Given the description of an element on the screen output the (x, y) to click on. 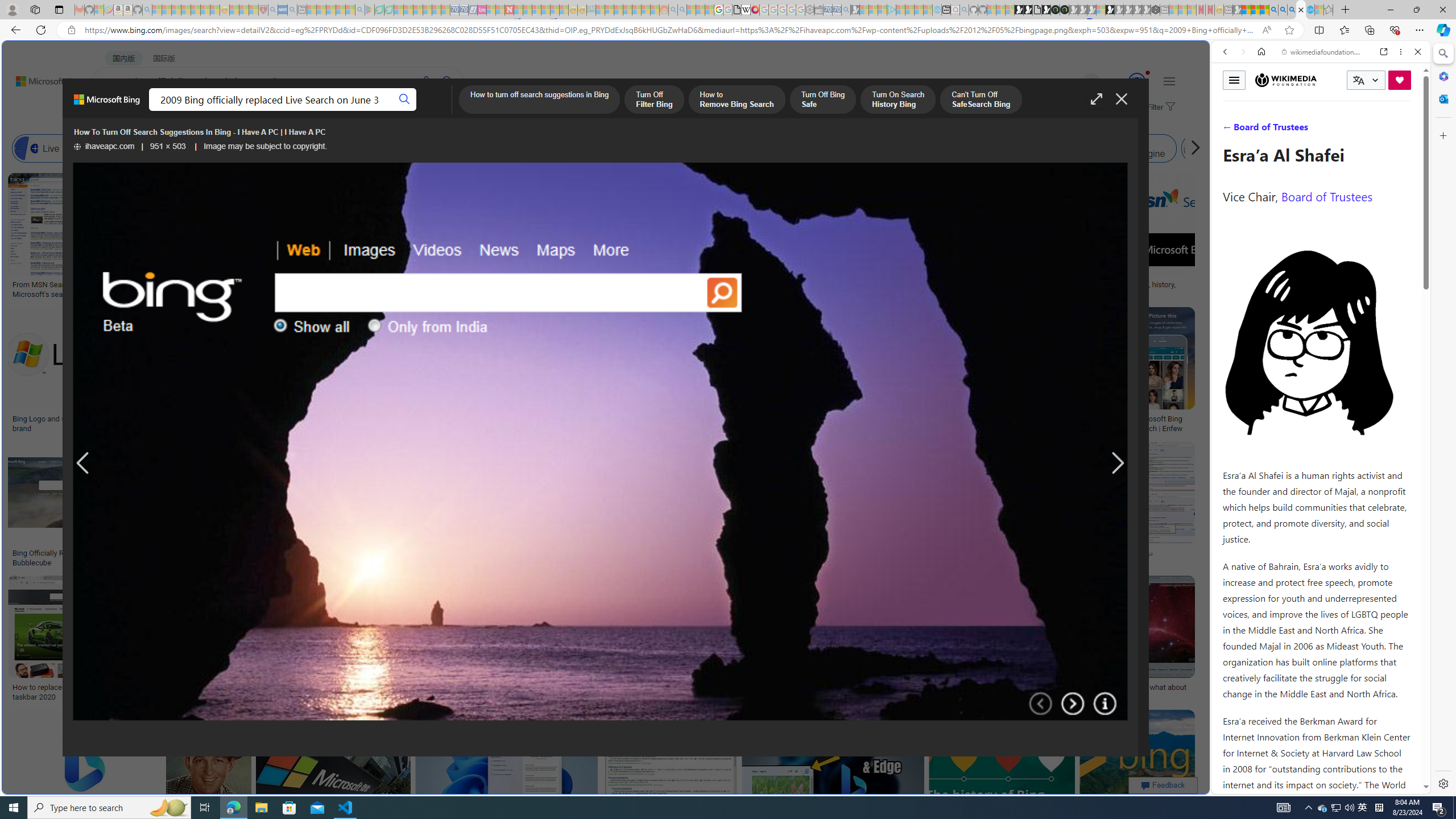
Latest Politics News & Archive | Newsweek.com - Sleeping (508, 9)
CURRENT LANGUAGE: (1366, 80)
Wikimedia Foundation (1286, 79)
New tab - Sleeping (1227, 9)
Bing: rebranding search: idsgn (a design blog) (699, 289)
Bing Logo, symbol, meaning, history, PNG, brand (1124, 289)
Board of Trustees (1326, 195)
